Given the description of an element on the screen output the (x, y) to click on. 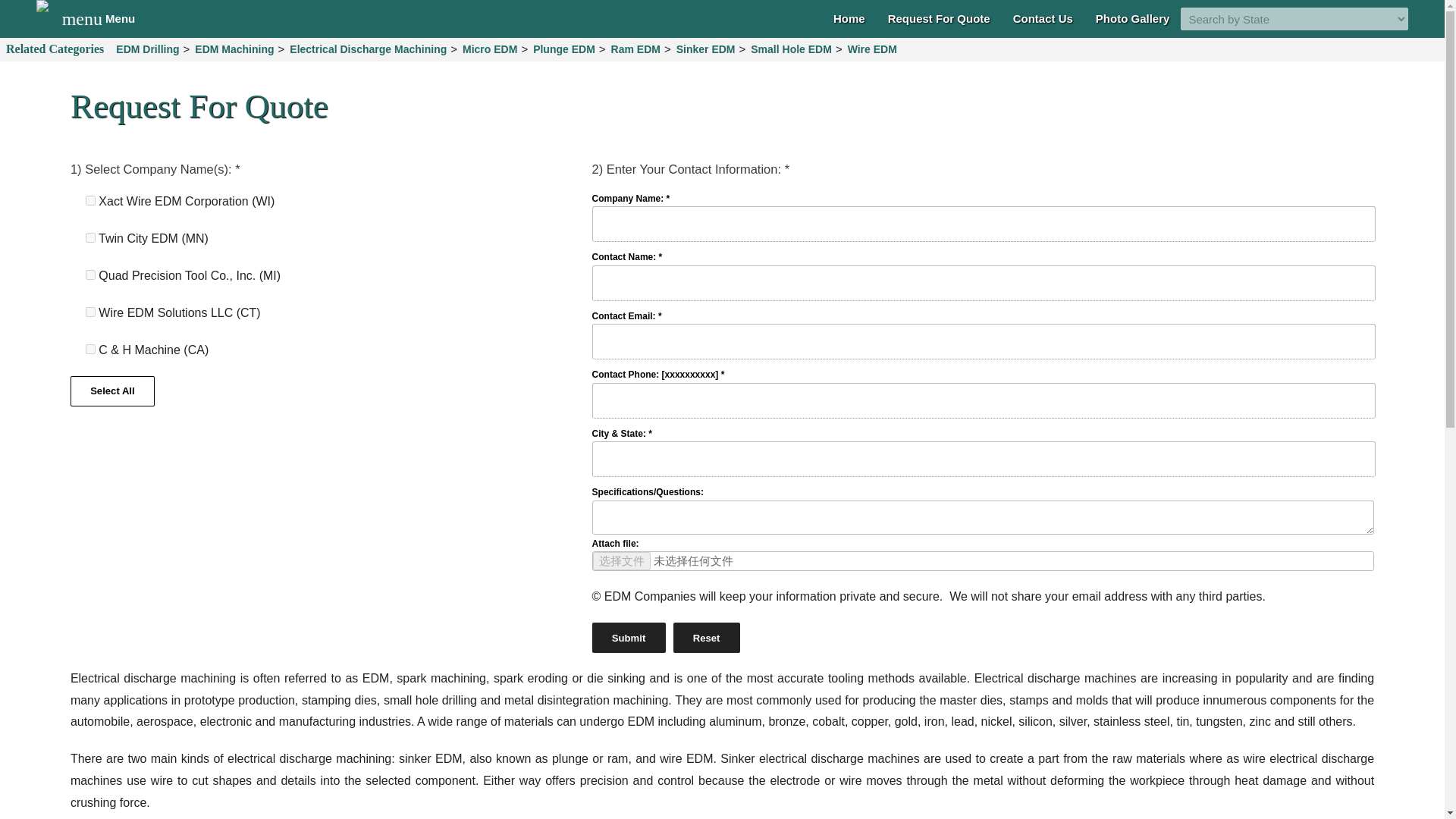
Select All (111, 390)
Micro EDM (489, 48)
Home (849, 18)
Submit (628, 636)
Ram EDM (635, 48)
EDM Drilling (147, 48)
Small Hole EDM (790, 48)
Submit (98, 18)
Plunge EDM (628, 636)
